Given the description of an element on the screen output the (x, y) to click on. 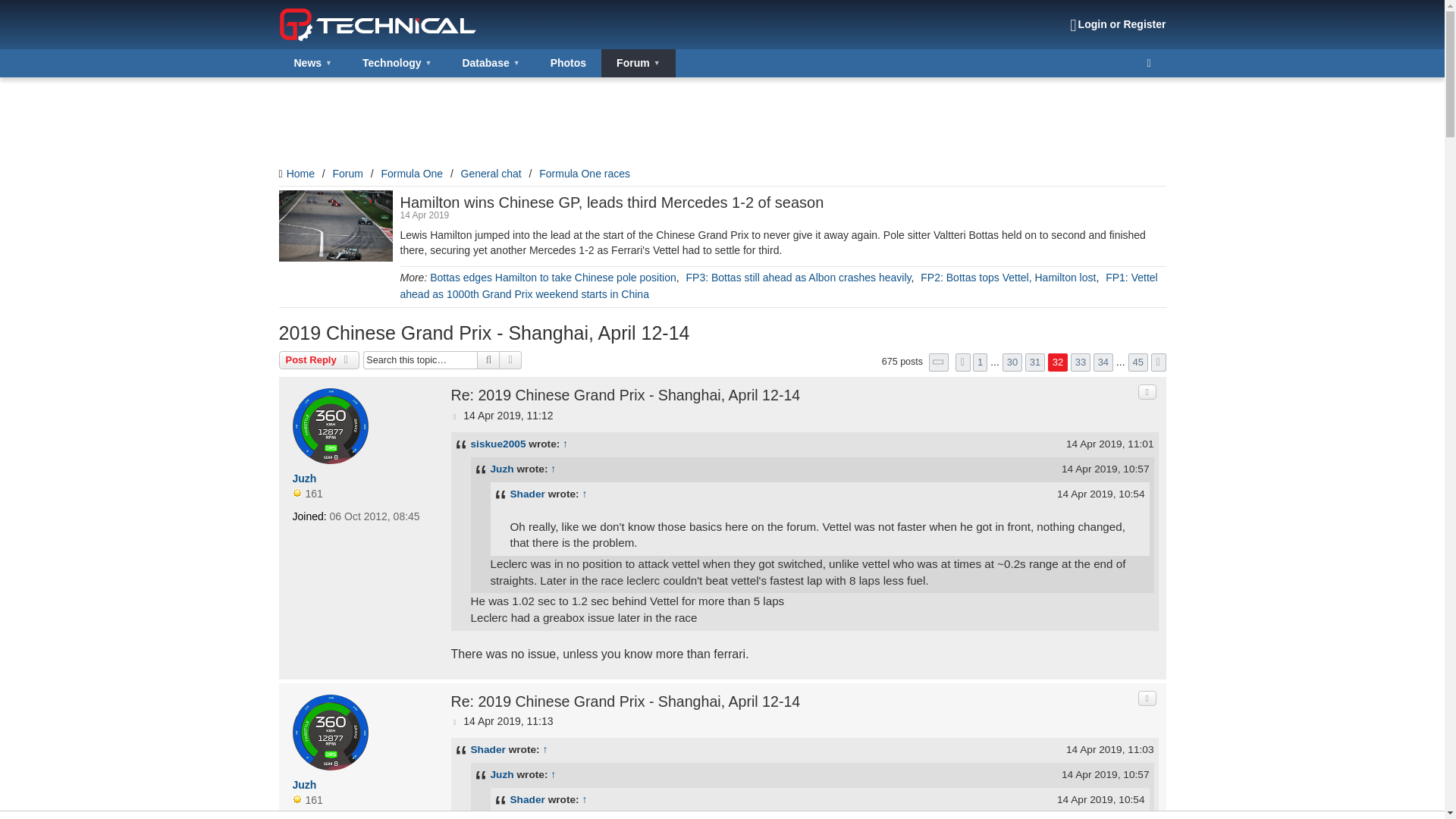
Formula One (411, 173)
Home (296, 173)
Post (456, 415)
Advanced search (510, 360)
Formula One races (584, 173)
Bottas edges Hamilton to take Chinese pole position (553, 277)
Search (488, 360)
Photos (568, 62)
Home (296, 173)
Formula One (411, 173)
Login or Register (1118, 24)
Forum (346, 173)
F1 Technical: Formula One uncovered (378, 24)
General chat (491, 173)
Post a reply (319, 360)
